Given the description of an element on the screen output the (x, y) to click on. 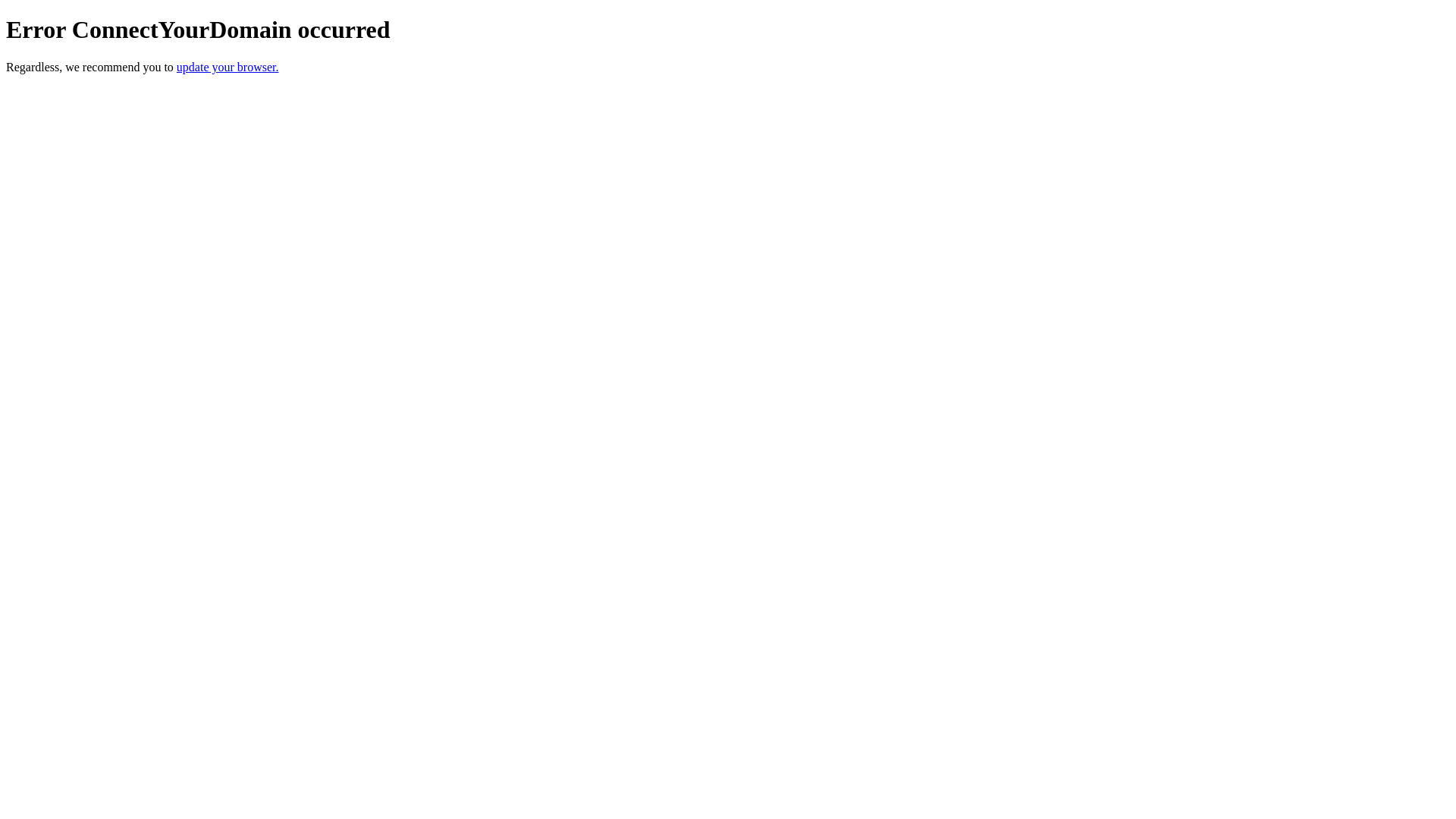
update your browser. Element type: text (227, 66)
